Given the description of an element on the screen output the (x, y) to click on. 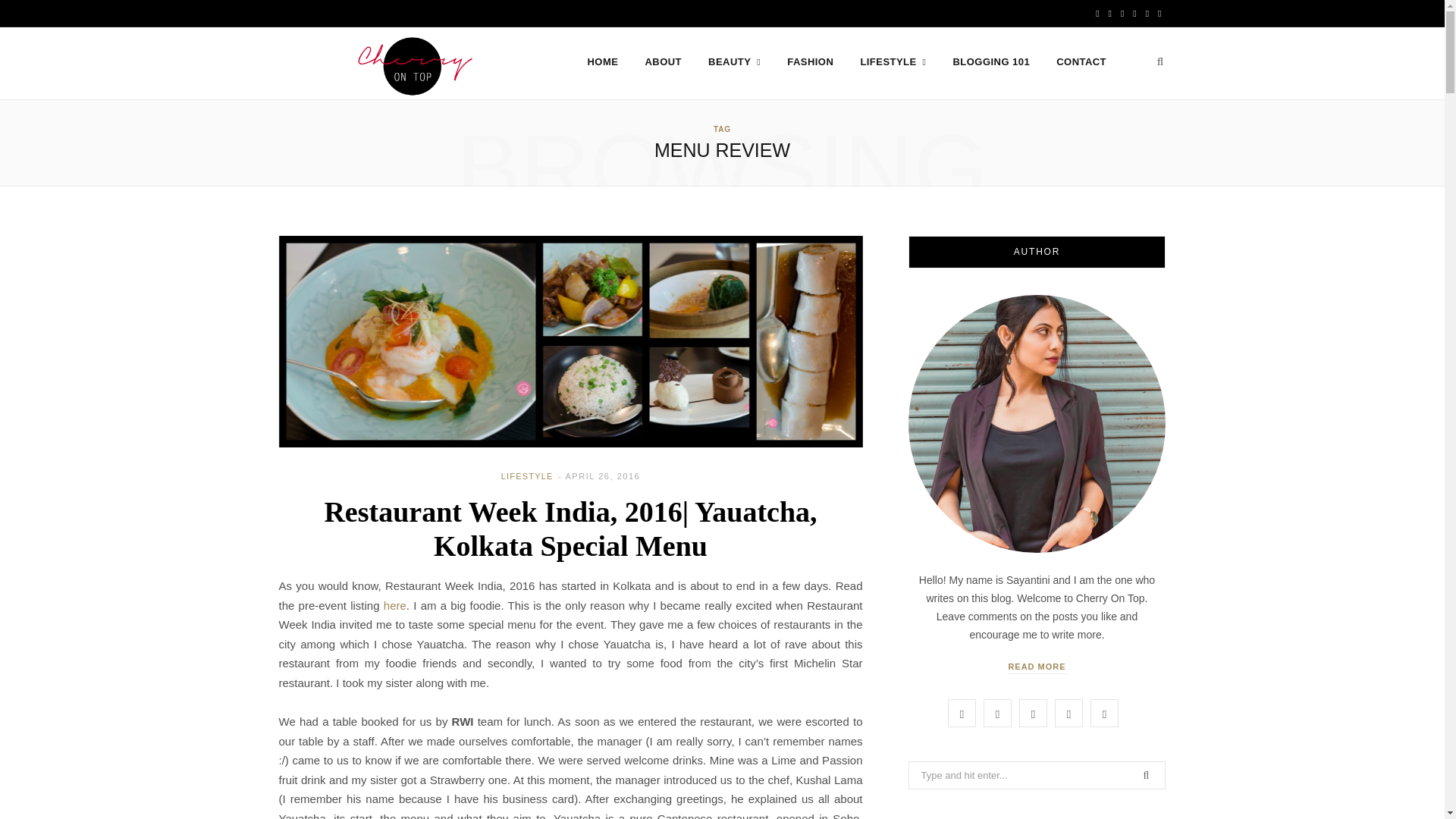
Facebook (1096, 13)
here (395, 604)
Twitter (997, 713)
LIFESTYLE (892, 61)
BEAUTY (734, 61)
Twitter (1109, 13)
Instagram (1032, 713)
Instagram (1134, 13)
CONTACT (1081, 61)
YouTube (1104, 713)
BLOGGING 101 (992, 61)
APRIL 26, 2016 (602, 475)
READ MORE (1036, 667)
FASHION (810, 61)
Pinterest (1147, 13)
